Given the description of an element on the screen output the (x, y) to click on. 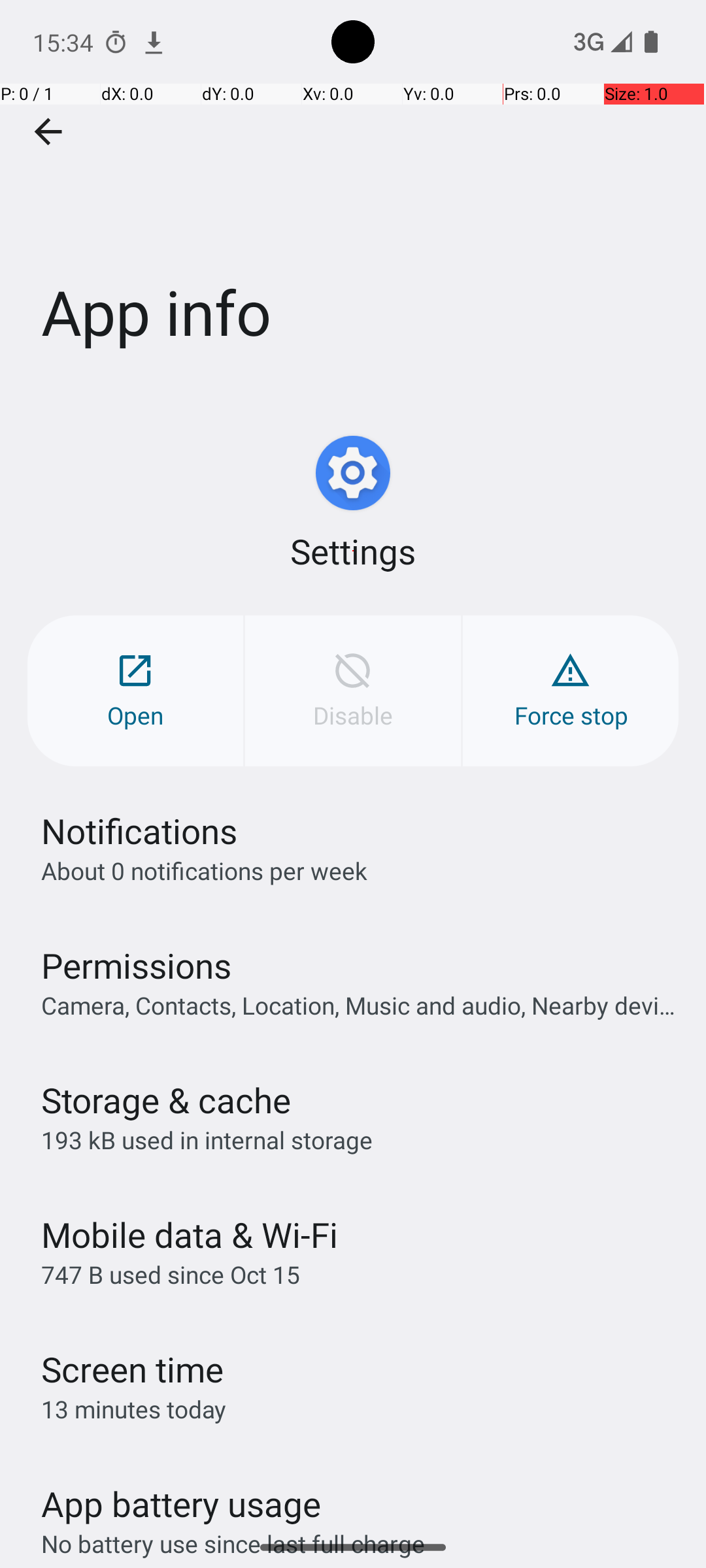
Camera, Contacts, Location, Music and audio, Nearby devices, Notifications, Phone, and Photos and videos Element type: android.widget.TextView (359, 1004)
193 kB used in internal storage Element type: android.widget.TextView (206, 1139)
747 B used since Oct 15 Element type: android.widget.TextView (170, 1273)
13 minutes today Element type: android.widget.TextView (133, 1408)
